Given the description of an element on the screen output the (x, y) to click on. 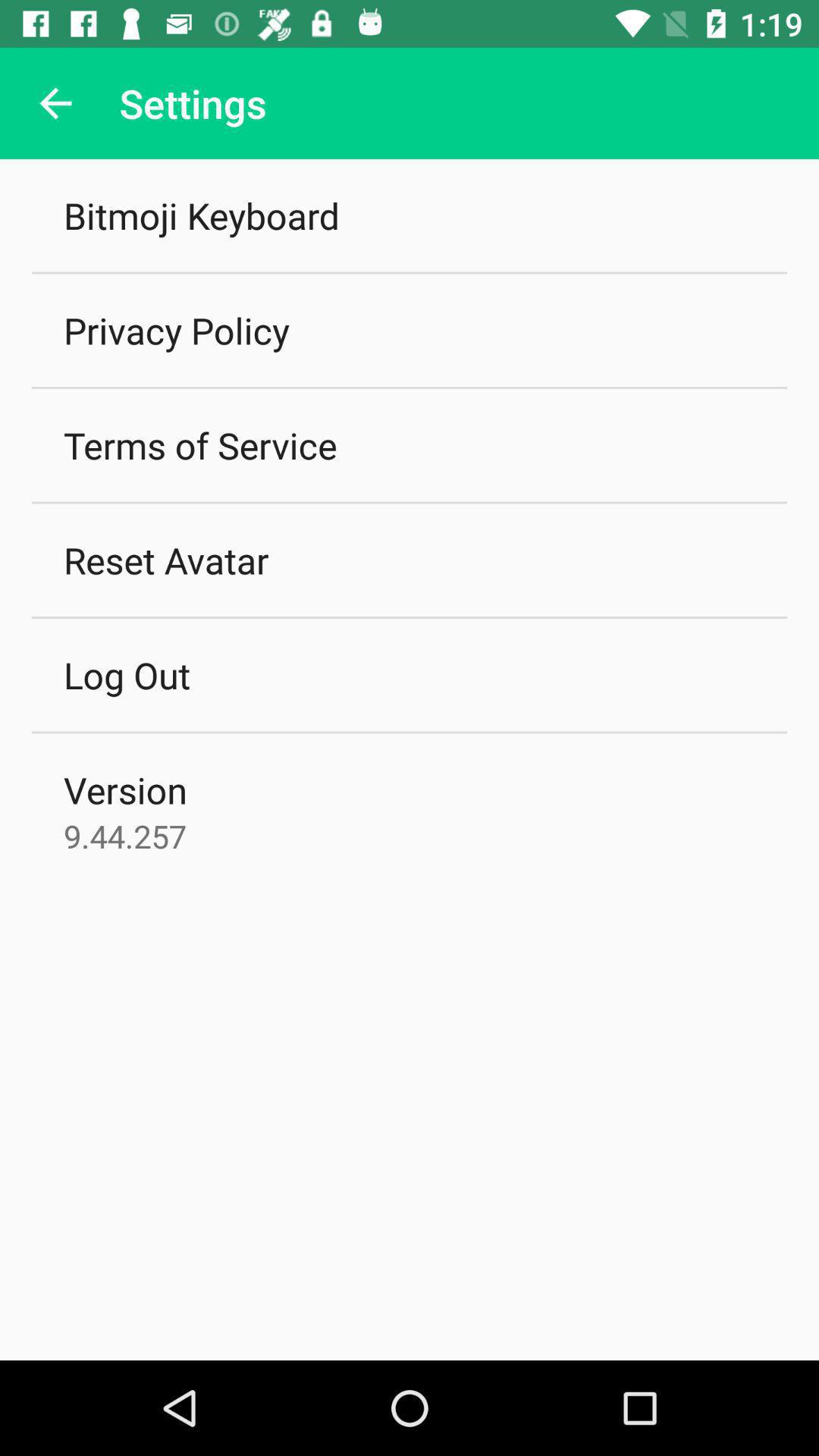
choose icon below reset avatar item (126, 674)
